Given the description of an element on the screen output the (x, y) to click on. 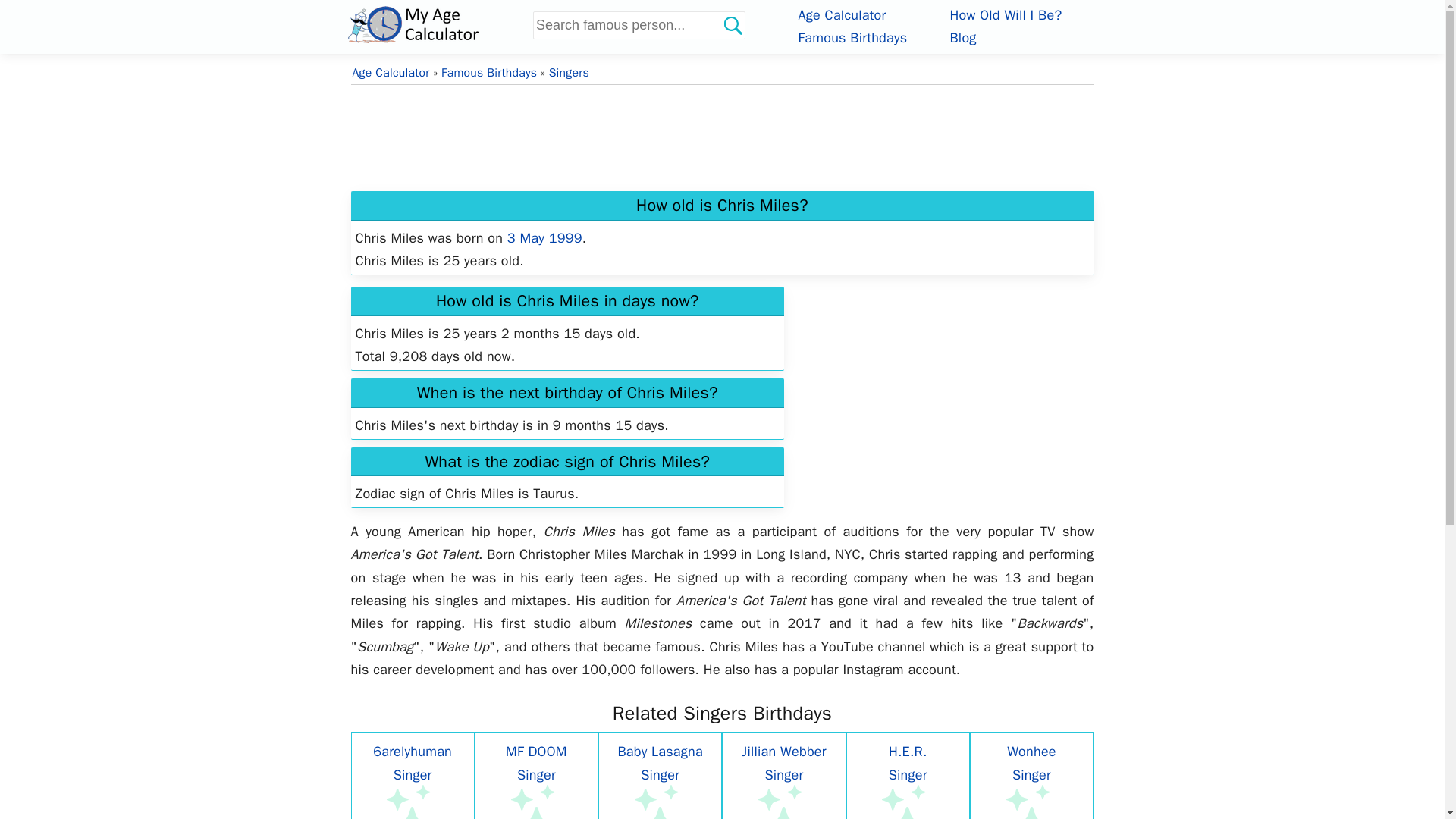
Age Calculator (841, 14)
Famous Birthdays (852, 37)
Age Calculator (841, 14)
Age Calculator Blog (962, 37)
Blog (962, 37)
3rd party ad content (938, 384)
Famous Birthdays (489, 72)
May 3 Famous Birthdays (544, 238)
Age Calculator (437, 24)
How Old Will I Be? (1005, 14)
3 May 1999 (544, 238)
Age Calculator (390, 72)
How Old Will I Be In The Future? (1005, 14)
Famous Birthdays (852, 37)
Singers (568, 72)
